Given the description of an element on the screen output the (x, y) to click on. 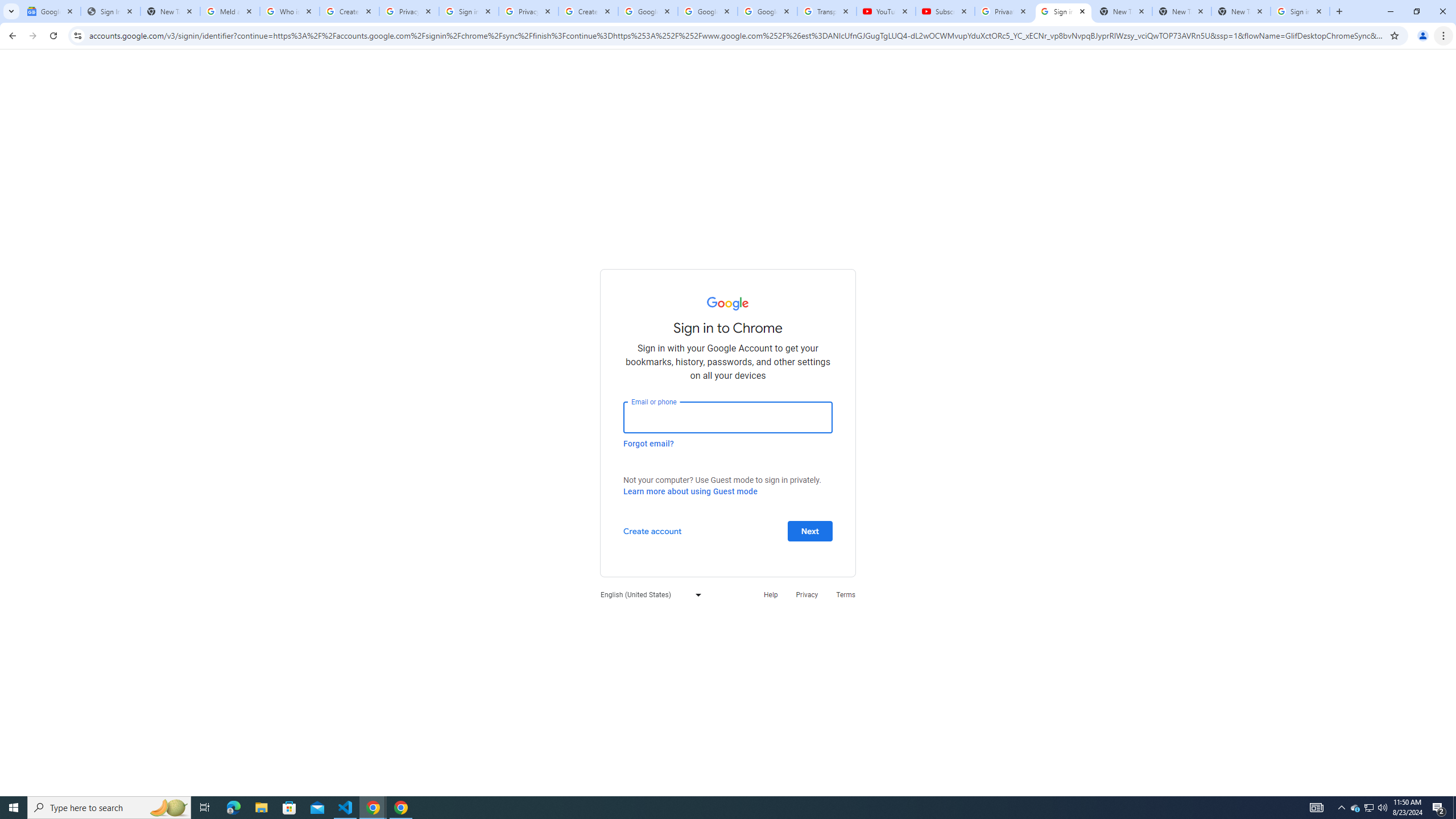
Create your Google Account (588, 11)
Next (809, 530)
Sign in - Google Accounts (1300, 11)
Sign in - Google Accounts (1063, 11)
Sign in - Google Accounts (468, 11)
English (United States) (647, 594)
Forgot email? (648, 443)
